Given the description of an element on the screen output the (x, y) to click on. 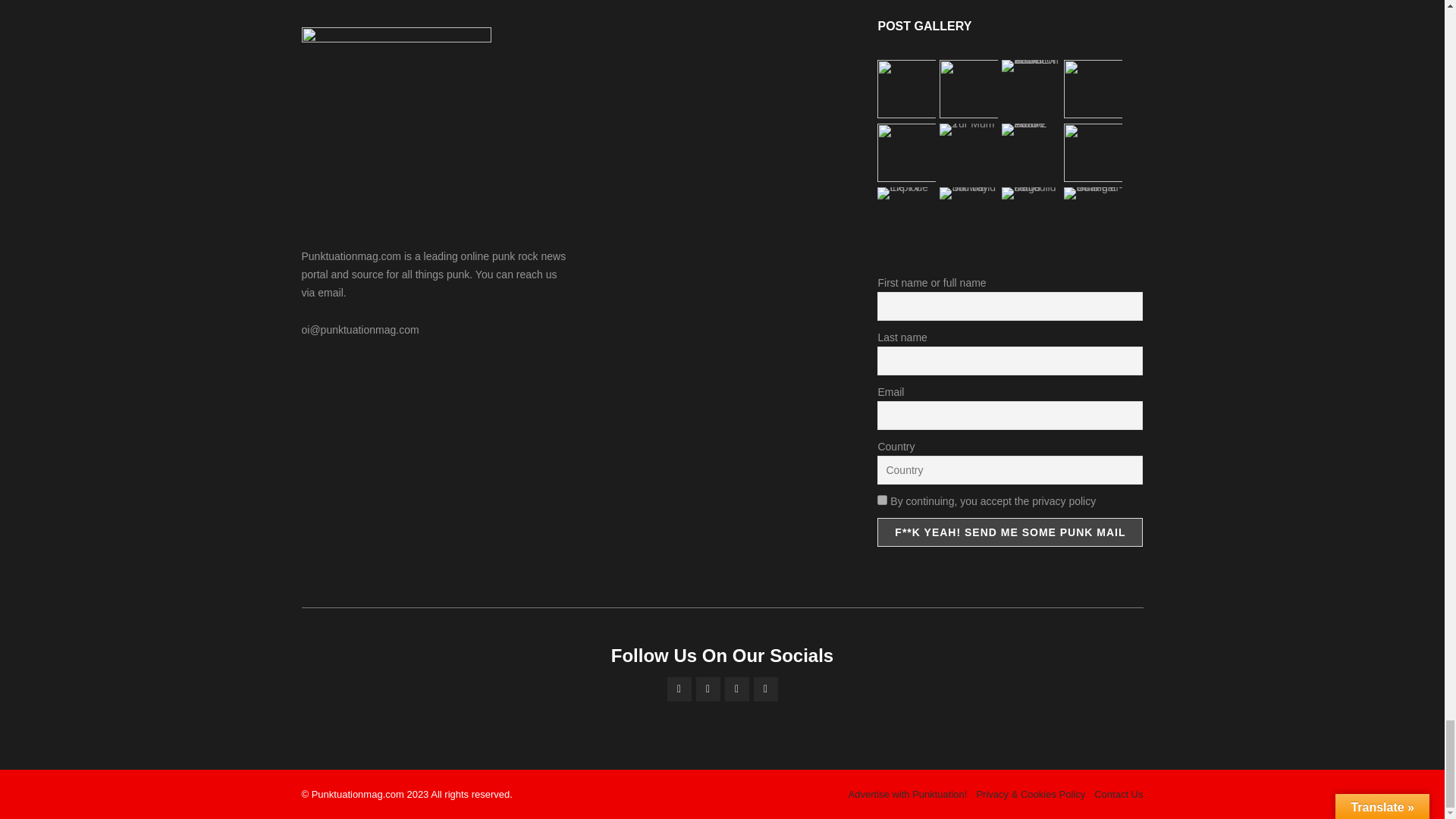
on (881, 500)
